Given the description of an element on the screen output the (x, y) to click on. 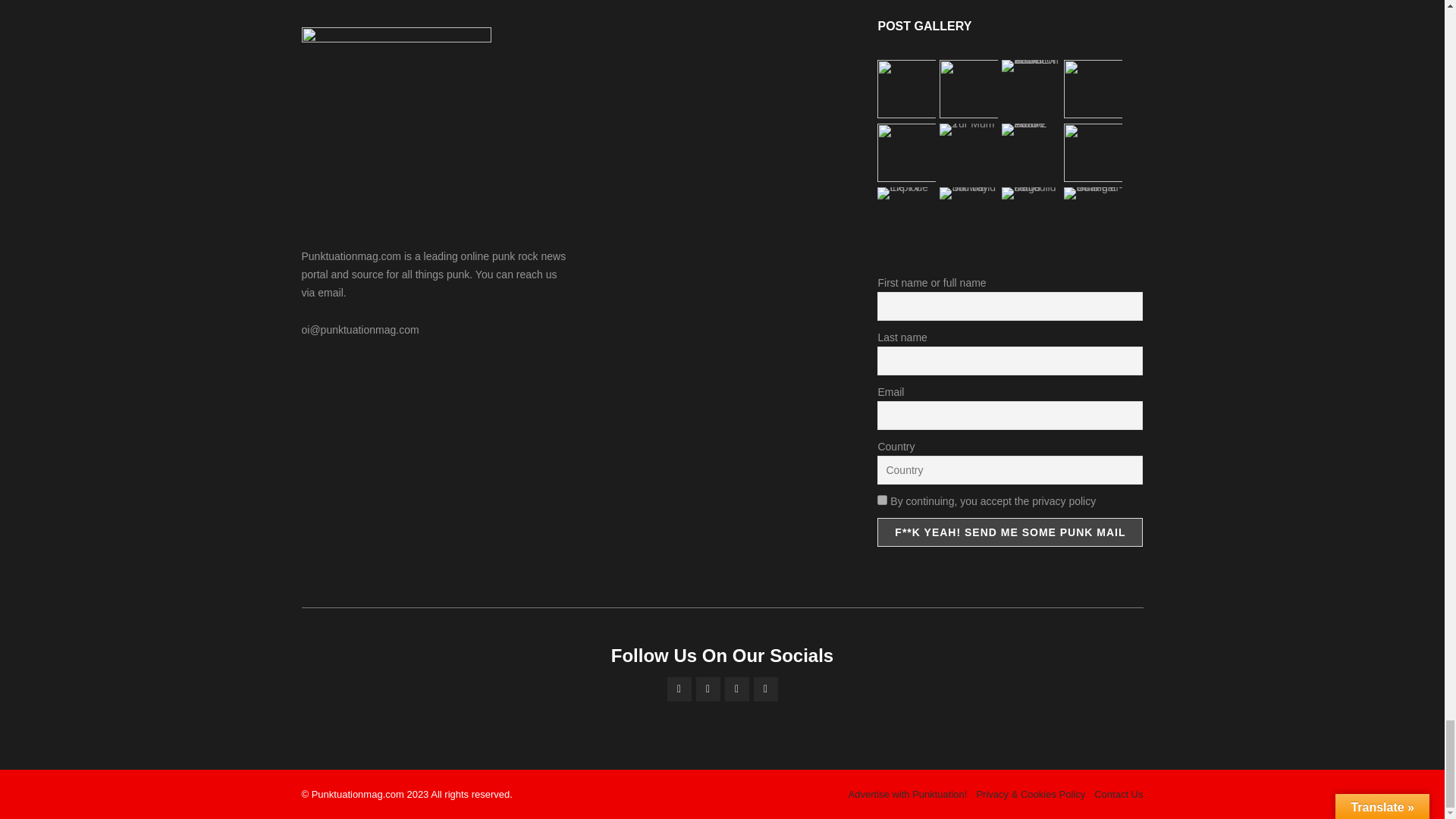
on (881, 500)
